Given the description of an element on the screen output the (x, y) to click on. 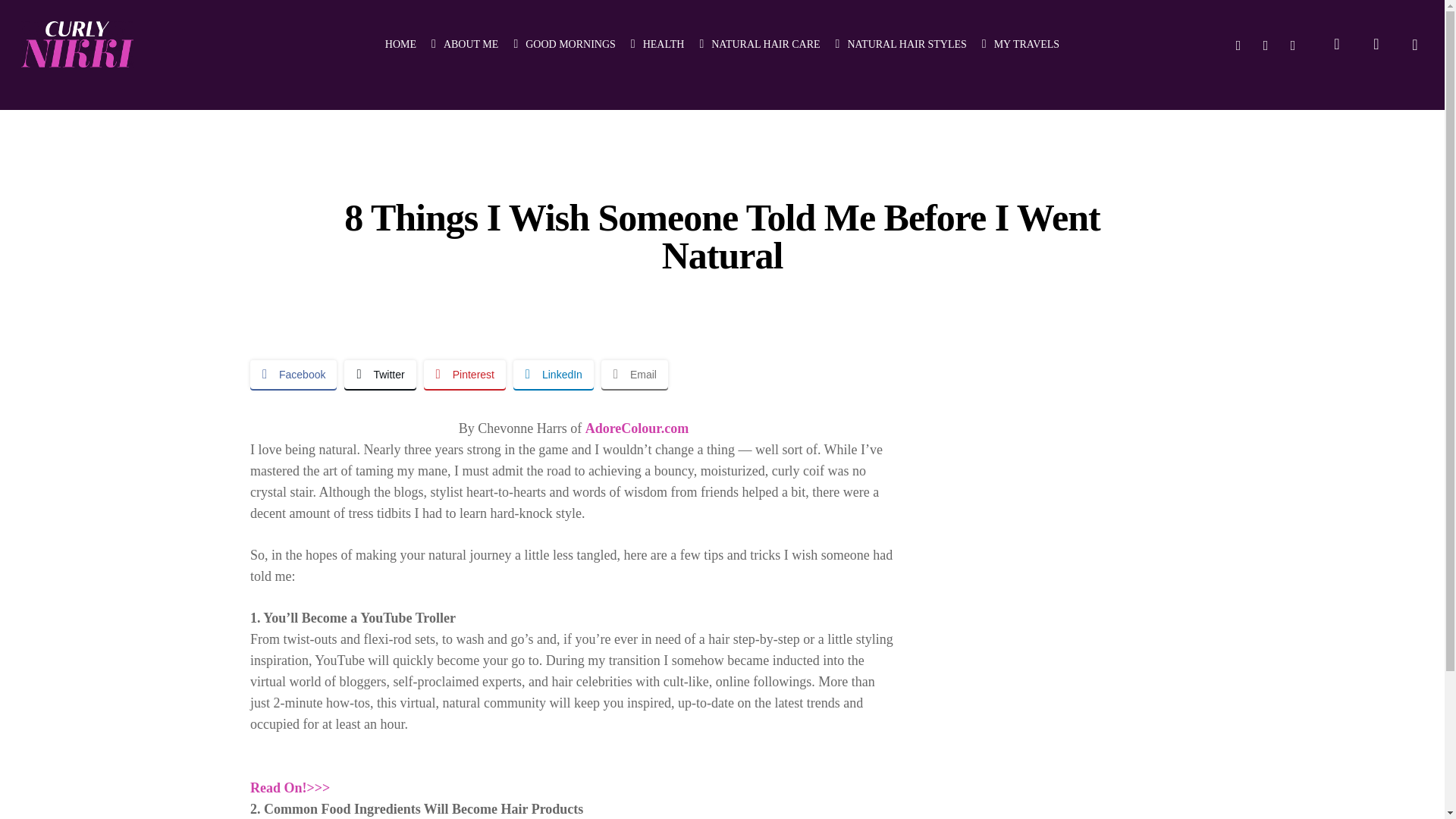
NATURAL HAIR CARE (758, 44)
ABOUT ME (463, 44)
NATURAL HAIR STYLES (900, 44)
GOOD MORNINGS (563, 44)
HOME (400, 44)
HEALTH (657, 44)
